Given the description of an element on the screen output the (x, y) to click on. 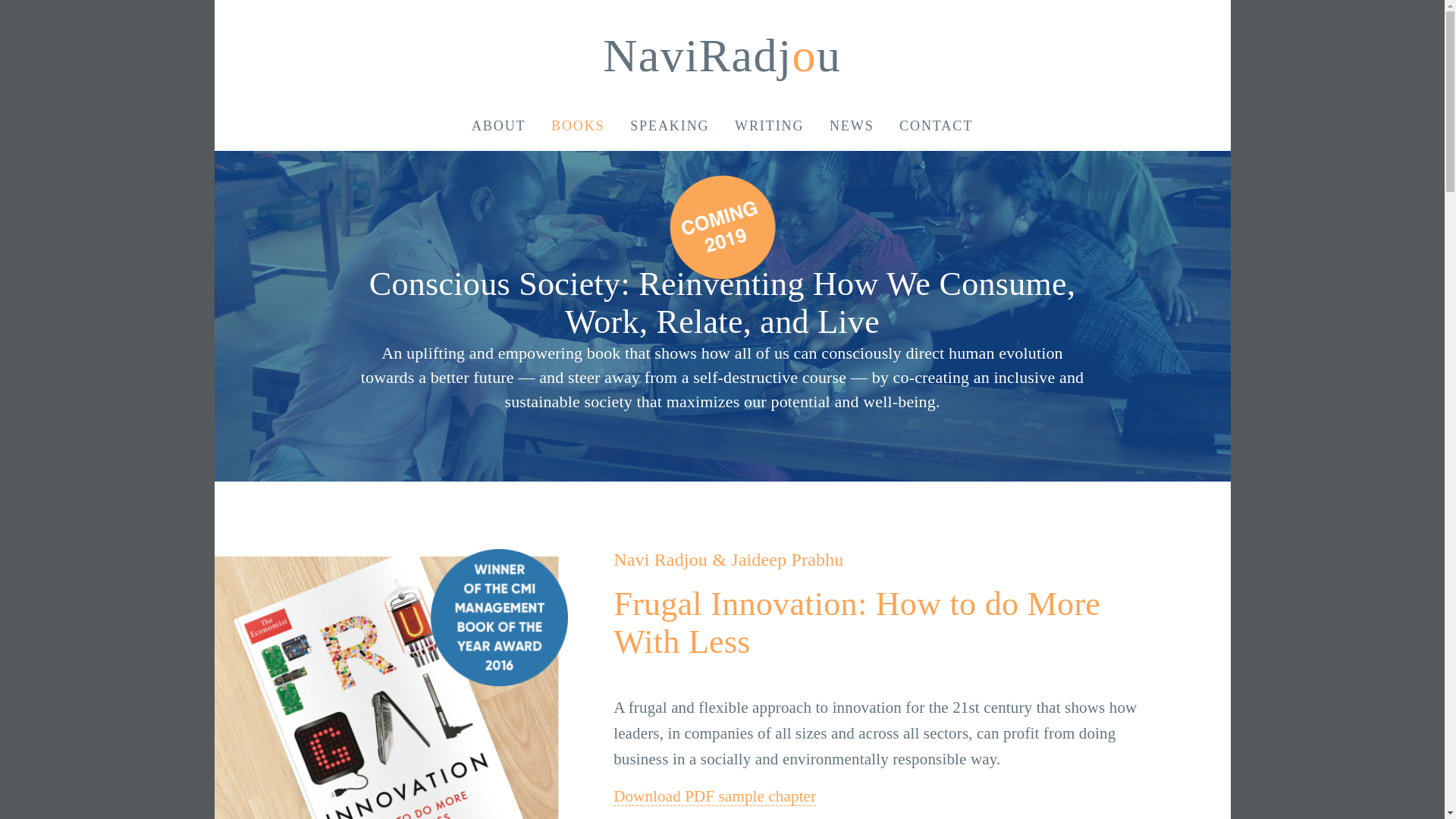
NaviRadjou (722, 55)
NEWS (852, 125)
ABOUT (498, 125)
CONTACT (935, 125)
SPEAKING (669, 125)
BOOKS (578, 125)
Download PDF sample chapter (713, 796)
WRITING (769, 125)
